Given the description of an element on the screen output the (x, y) to click on. 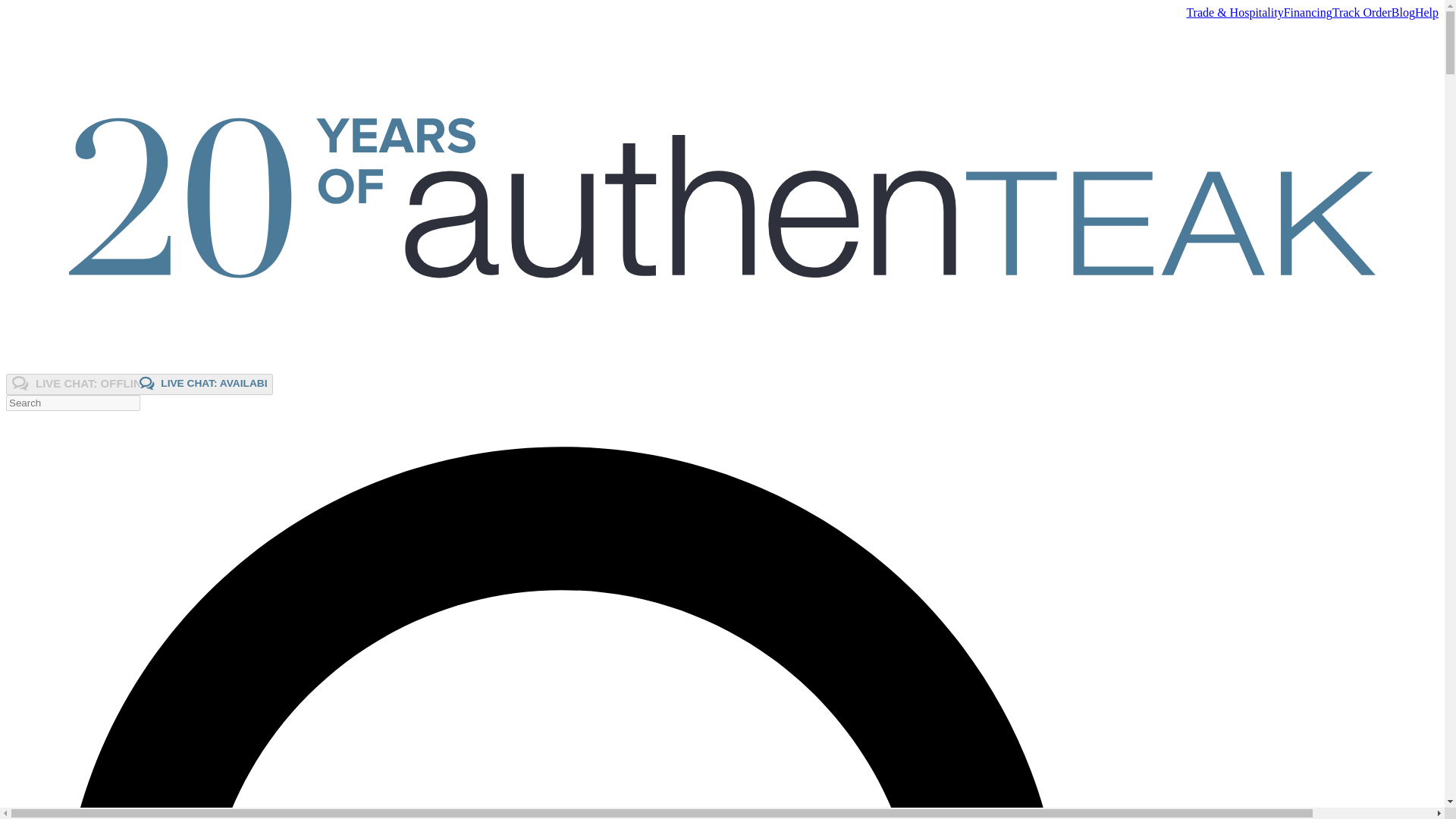
Financing (1308, 11)
LIVE CHAT: OFFLINE (75, 382)
Blog (1403, 11)
Go to Blog page (1403, 11)
Go to Financing page (1308, 11)
Chat with us today! (139, 383)
Go to Help page (1426, 11)
Help (1426, 11)
Go to Track Order page (1361, 11)
LIVE CHAT: AVAILABLE (202, 382)
Track Order (139, 383)
